Given the description of an element on the screen output the (x, y) to click on. 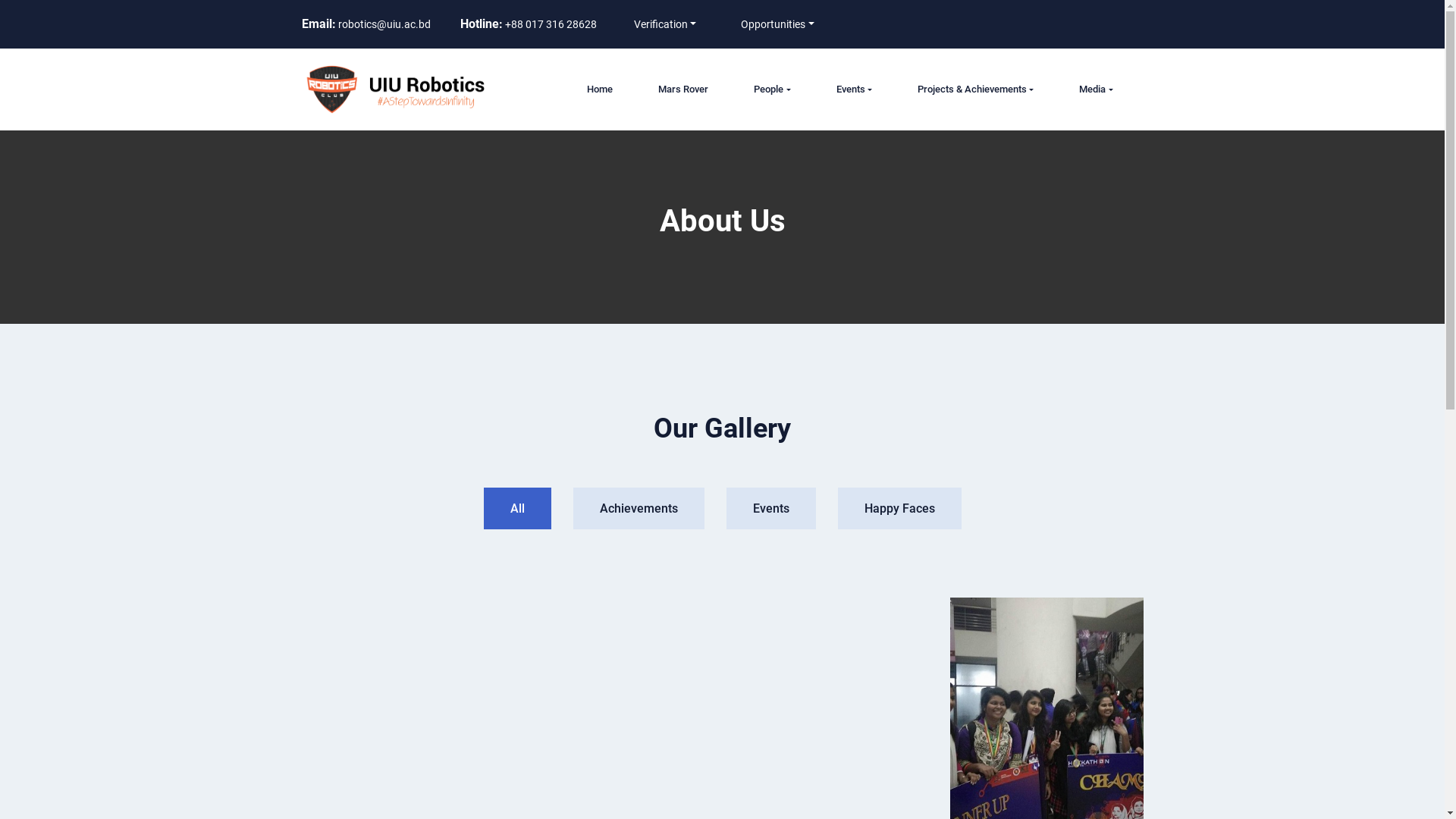
Opportunities Element type: text (777, 24)
Media Element type: text (1095, 88)
Email: robotics@uiu.ac.bd Element type: text (365, 24)
Projects & Achievements Element type: text (975, 88)
People Element type: text (771, 88)
Hotline: +88 017 316 28628 Element type: text (527, 24)
Home Element type: text (599, 88)
Mars Rover Element type: text (683, 88)
Events Element type: text (854, 88)
Verification Element type: text (665, 24)
